Given the description of an element on the screen output the (x, y) to click on. 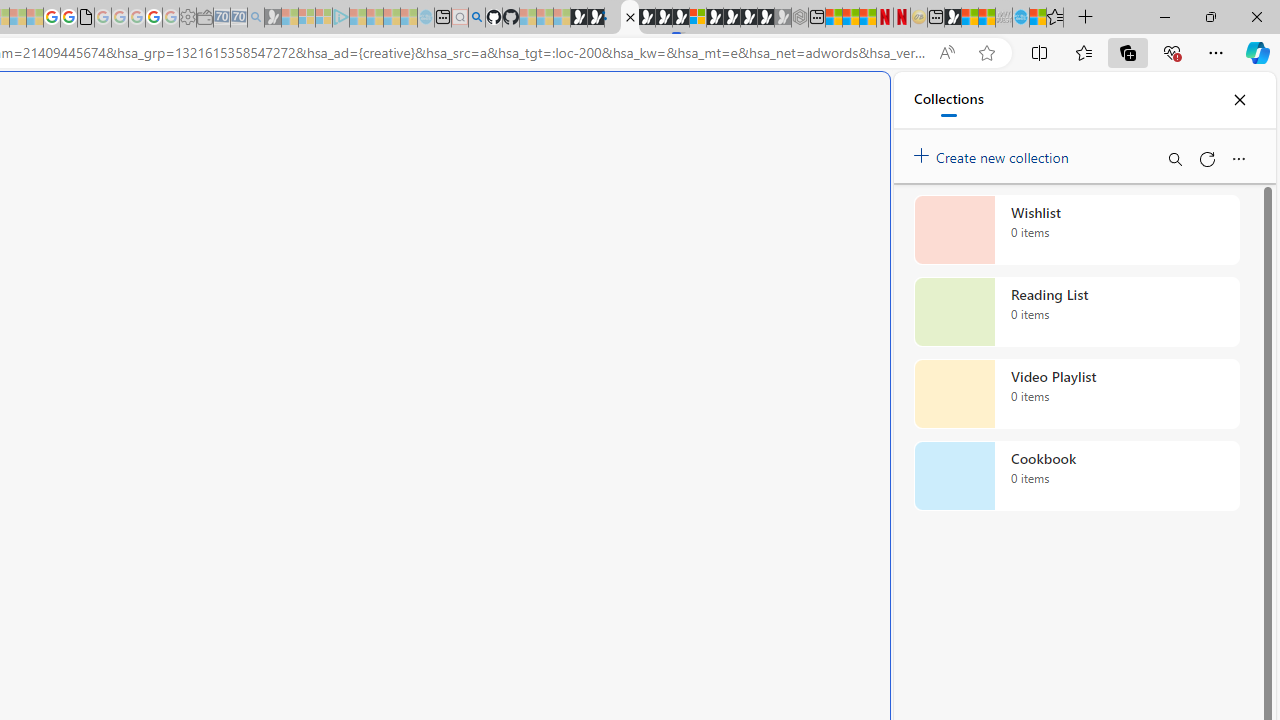
Future Focus Report 2024 (629, 17)
Wishlist collection, 0 items (1076, 229)
